Given the description of an element on the screen output the (x, y) to click on. 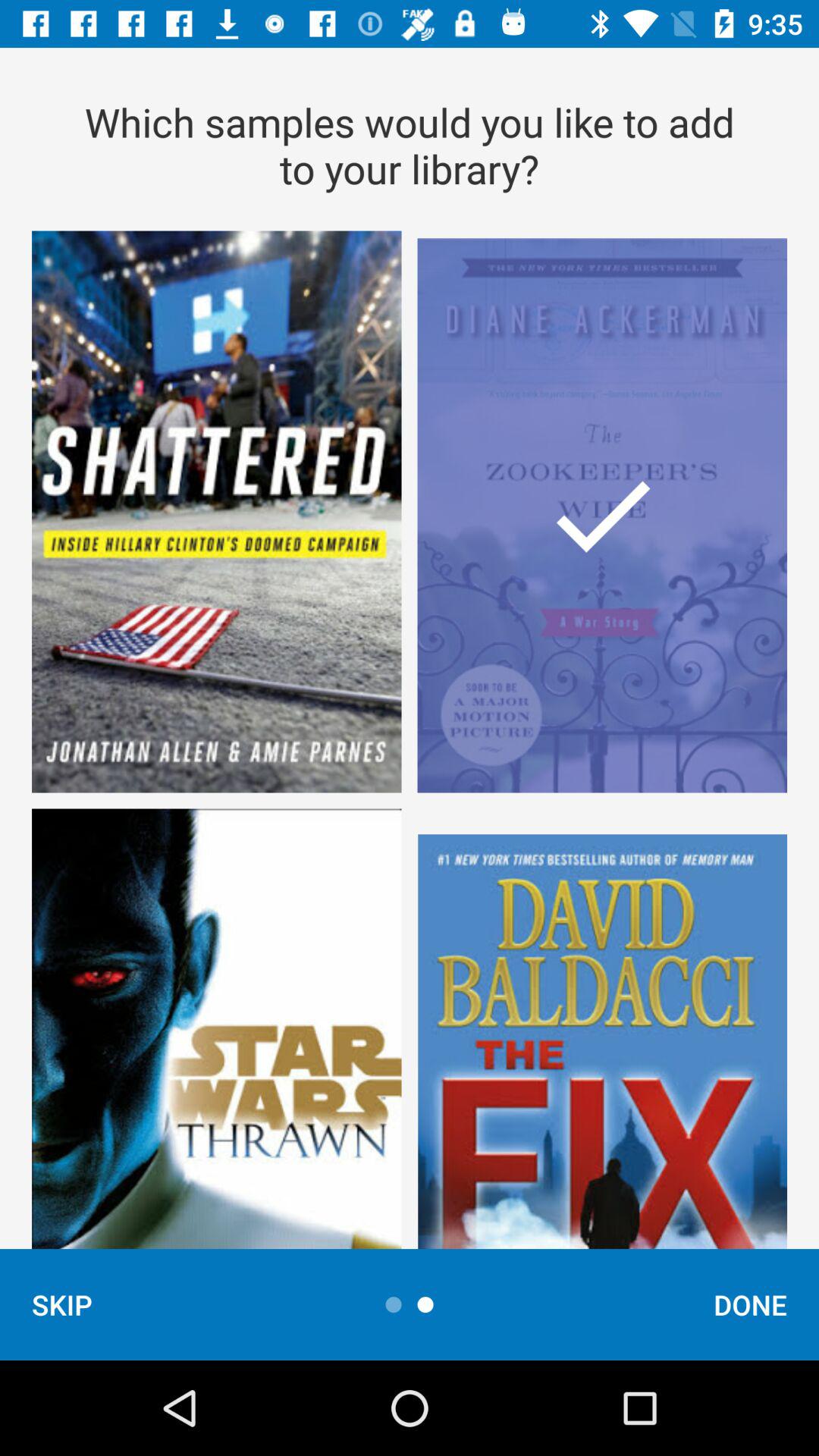
scroll to done (750, 1304)
